Given the description of an element on the screen output the (x, y) to click on. 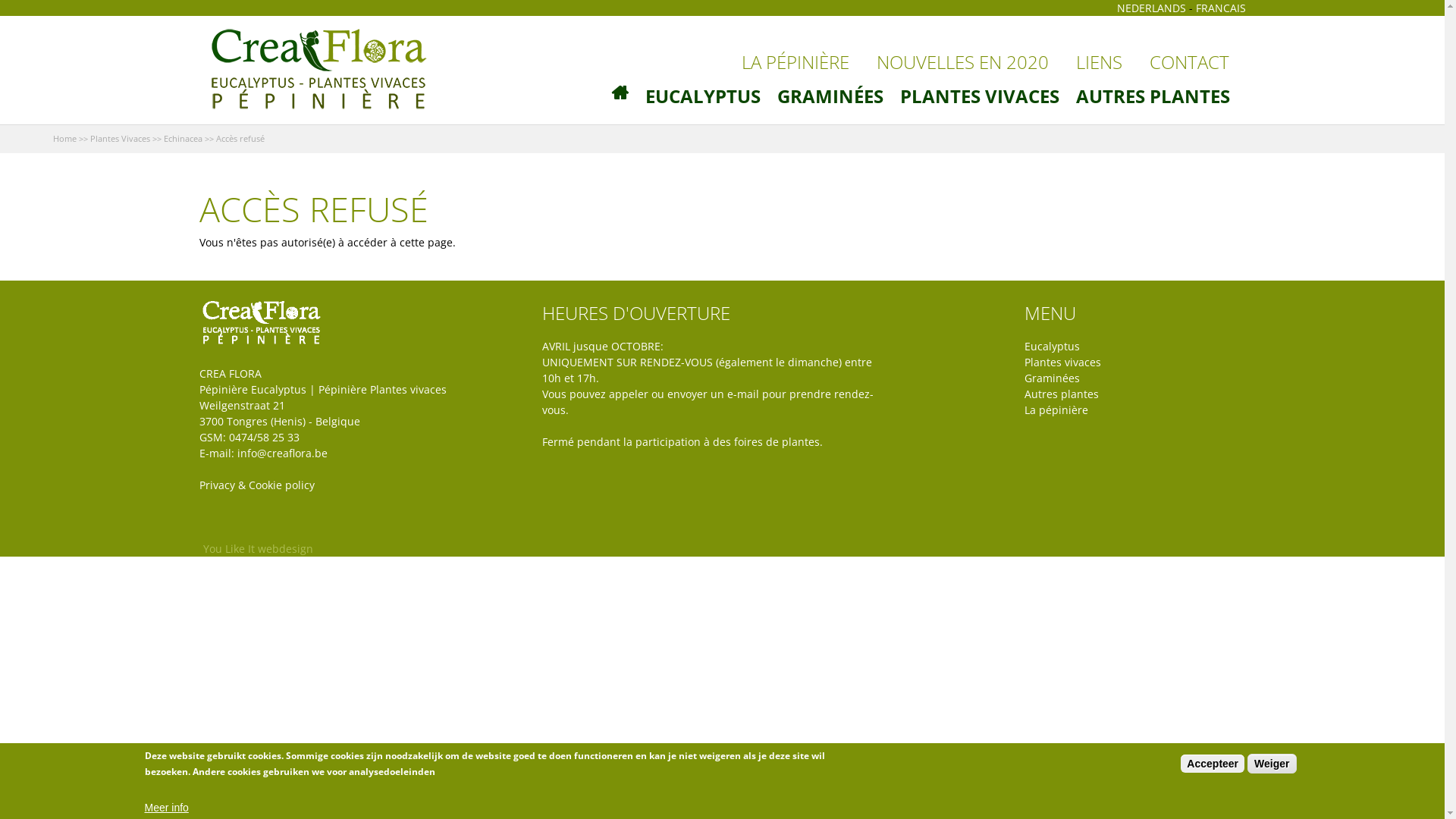
Plantes vivaces   Element type: text (1065, 361)
AUTRES PLANTES Element type: text (1152, 95)
Weiger Element type: text (1271, 763)
Plantes Vivaces Element type: text (120, 138)
Home Element type: text (64, 138)
NOUVELLES EN 2020 Element type: text (962, 61)
Aller au contenu principal Element type: text (658, 0)
PLANTES VIVACES Element type: text (979, 95)
Eucalyptus Element type: text (1051, 345)
CONTACT Element type: text (1189, 61)
NEDERLANDS Element type: text (1150, 7)
LIENS Element type: text (1098, 61)
Privacy & Cookie policy Element type: text (255, 484)
Echinacea Element type: text (182, 138)
Autres plantes Element type: text (1061, 393)
You Like It webdesign Element type: text (251, 548)
Accepteer Element type: text (1212, 763)
Meer info Element type: text (166, 807)
EUCALYPTUS Element type: text (702, 95)
info@creaflora.be Element type: text (281, 452)
FRANCAIS Element type: text (1220, 7)
